Given the description of an element on the screen output the (x, y) to click on. 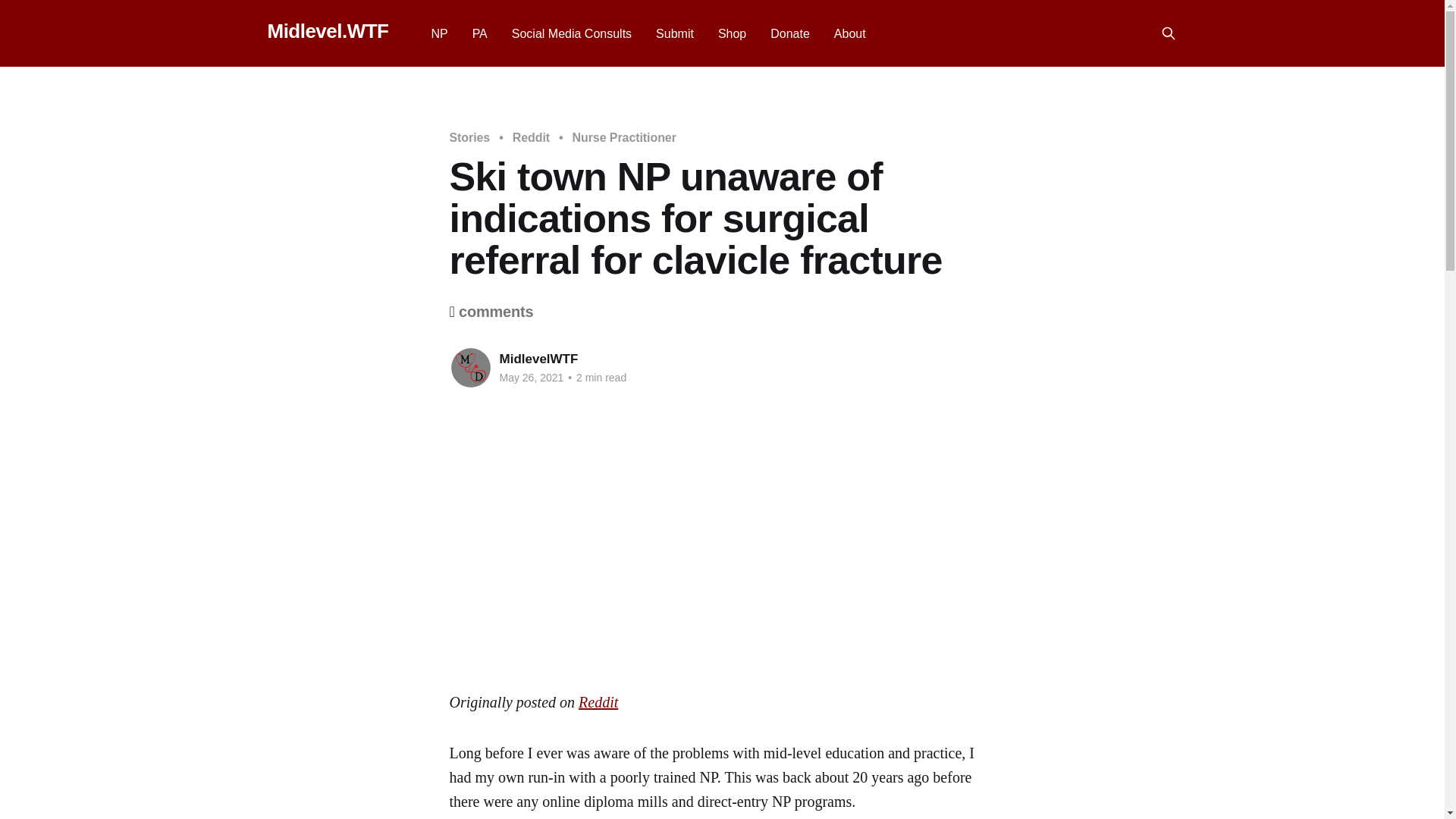
comments (495, 311)
Submit (675, 33)
Stories (468, 137)
Shop (731, 33)
Advertisement (721, 519)
Reddit (597, 701)
Reddit (531, 137)
Social Media Consults (571, 33)
About (850, 33)
Midlevel.WTF (327, 31)
